Given the description of an element on the screen output the (x, y) to click on. 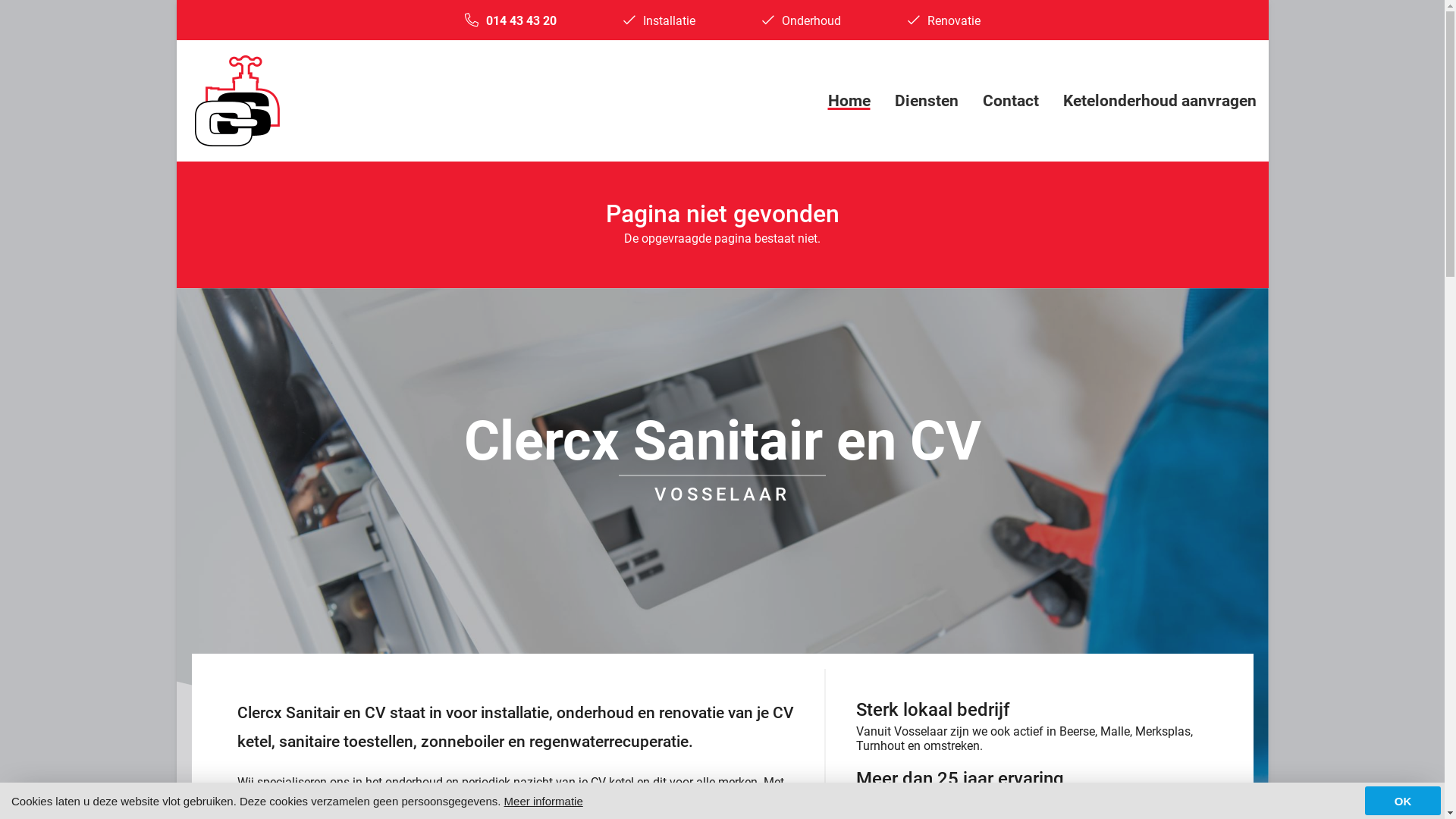
Clercx Sanitair Element type: hover (236, 100)
Contact Element type: text (1010, 100)
014 43 43 20 Element type: text (520, 20)
OK Element type: text (1402, 800)
Diensten Element type: text (926, 100)
Ketelonderhoud aanvragen Element type: text (1159, 100)
periodiek nazicht Element type: text (506, 782)
Home Element type: text (848, 100)
Meer informatie Element type: text (543, 800)
